Given the description of an element on the screen output the (x, y) to click on. 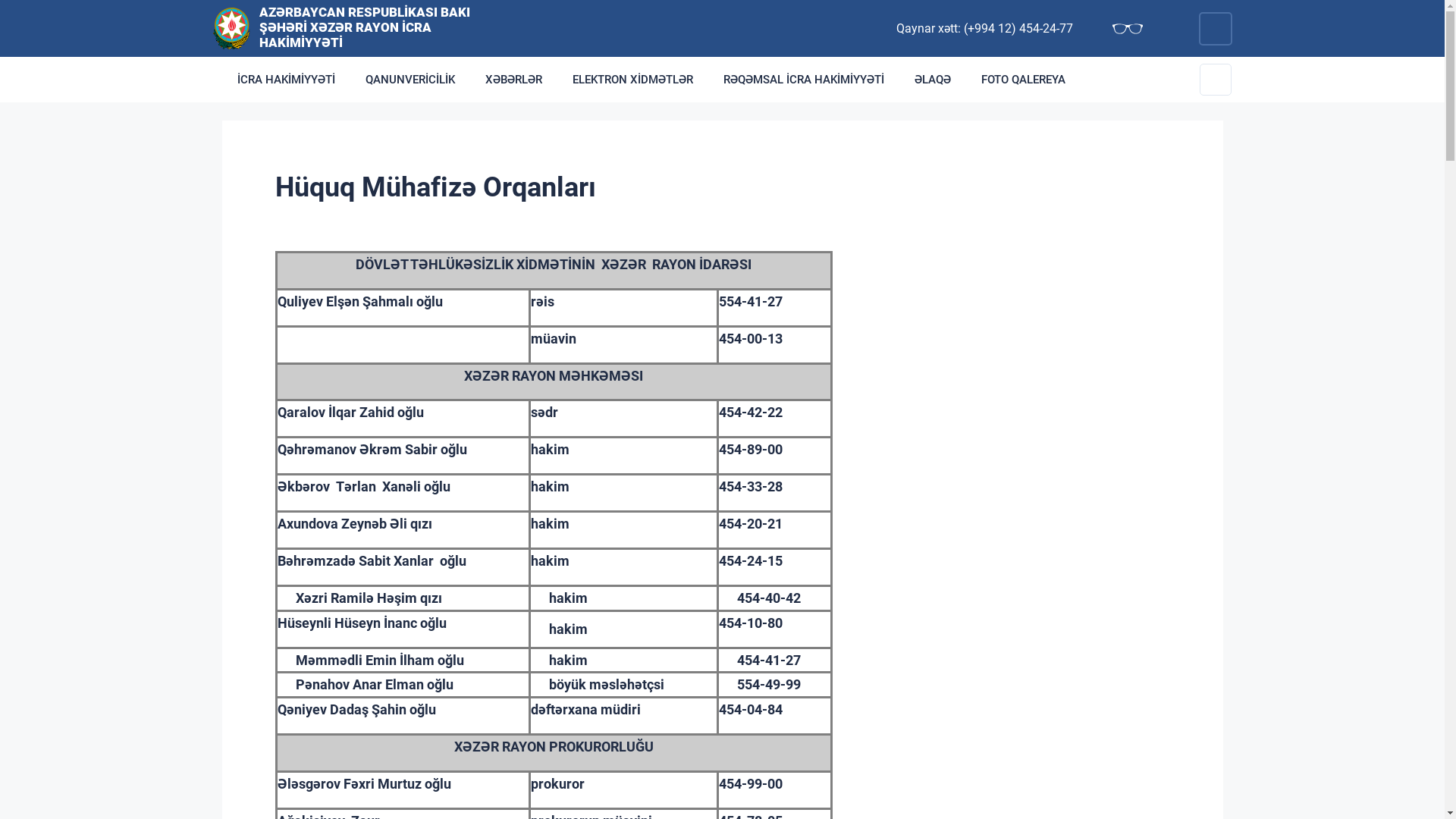
FOTO QALEREYA Element type: text (1023, 79)
QANUNVERICILIK Element type: text (410, 79)
